Given the description of an element on the screen output the (x, y) to click on. 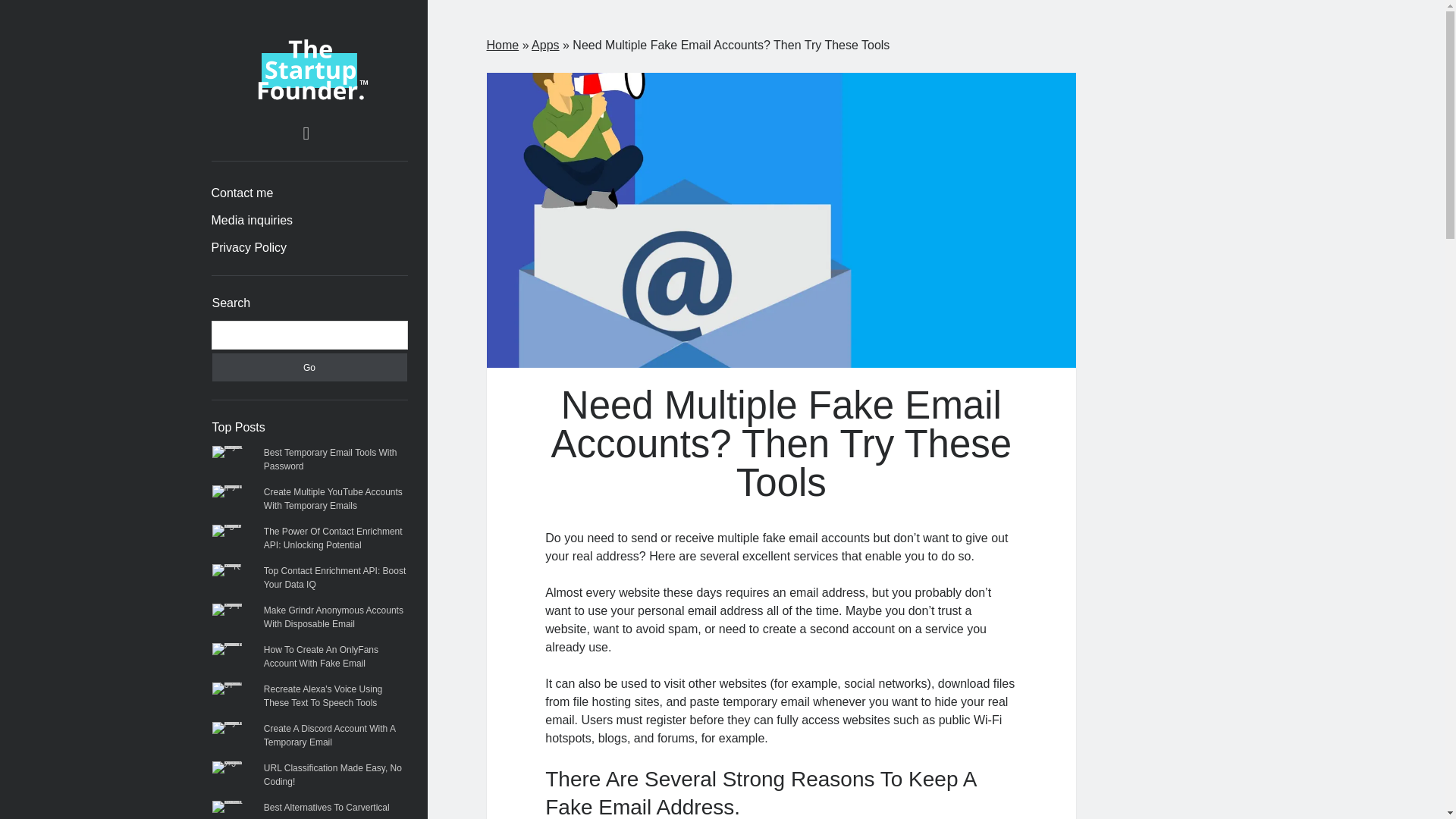
Recreate Alexa's Voice Using These Text To Speech Tools (322, 695)
Make Grindr Anonymous Accounts With Disposable Email (333, 617)
Media inquiries (251, 220)
Create A Discord Account With A Temporary Email (328, 735)
Privacy Policy (248, 248)
The Power Of Contact Enrichment API: Unlocking Potential (333, 538)
Create Multiple YouTube Accounts With Temporary Emails (333, 498)
Contact me (242, 193)
Best Temporary Email Tools With Password (330, 459)
Best Alternatives To Carvertical (326, 807)
